Given the description of an element on the screen output the (x, y) to click on. 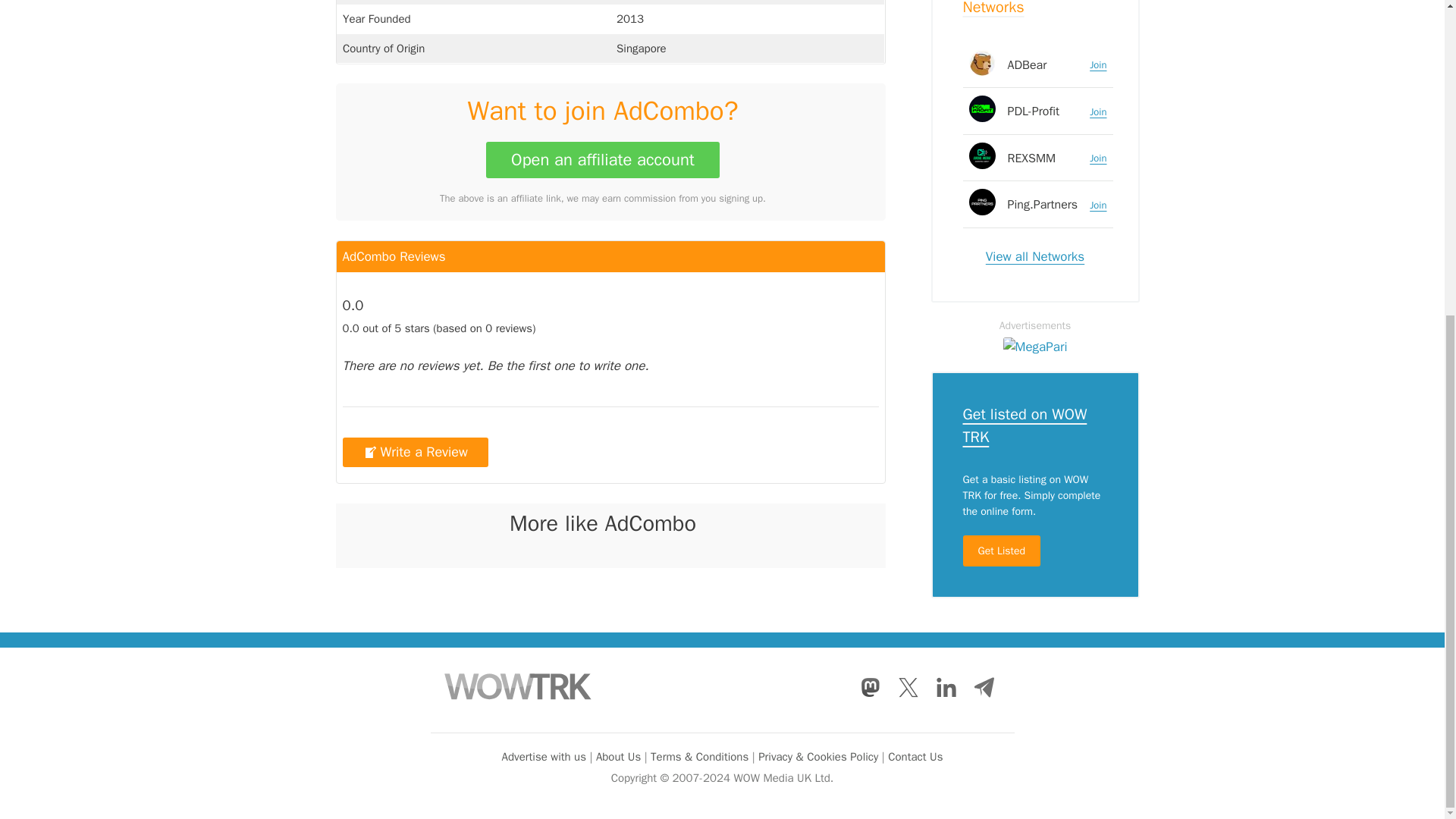
Open an affiliate account (602, 159)
Write a Review (414, 451)
icon-REXSMM (982, 68)
icon-PDL-Profit (982, 22)
279322 (982, 115)
